Given the description of an element on the screen output the (x, y) to click on. 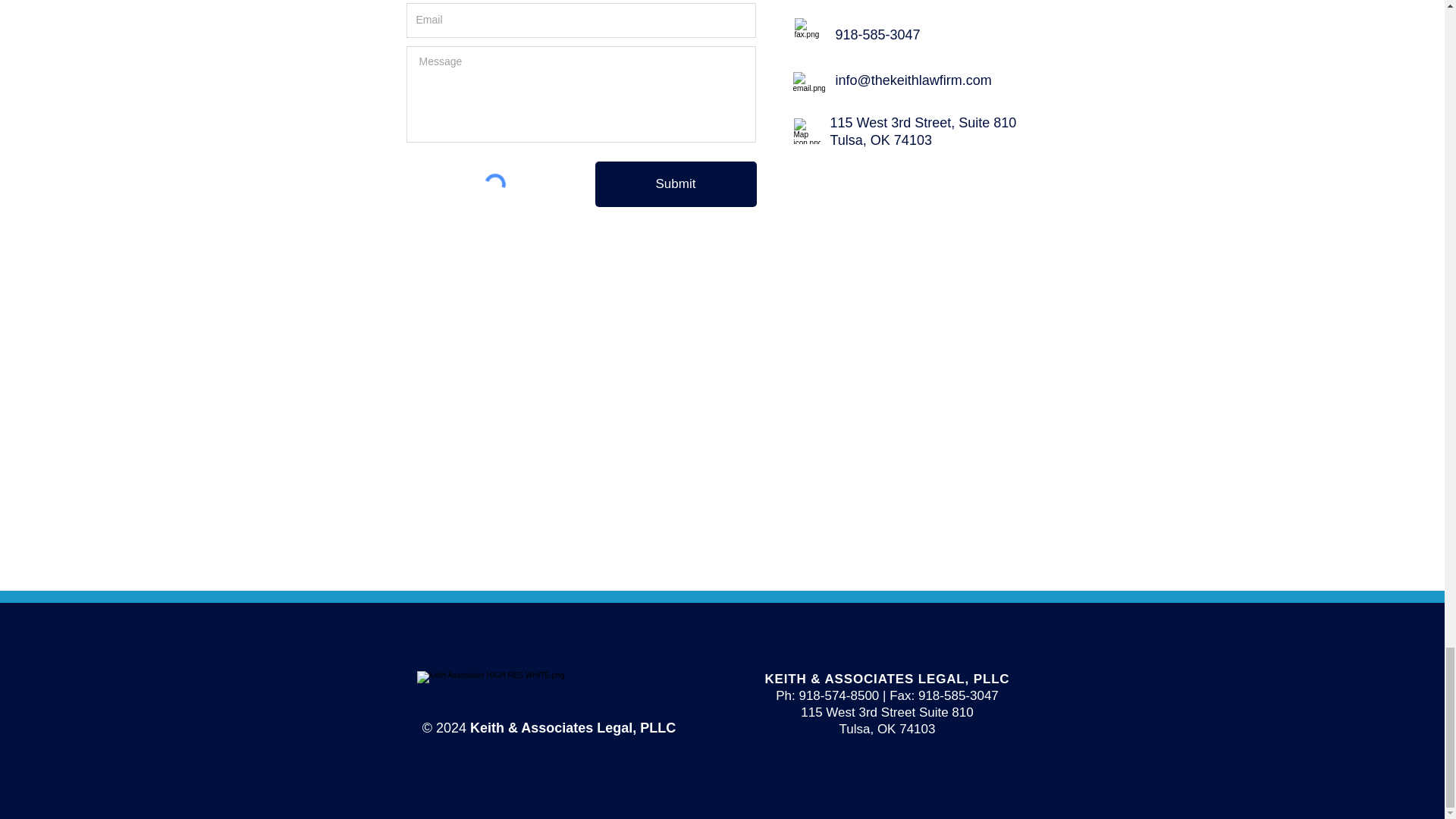
Submit (674, 184)
